Given the description of an element on the screen output the (x, y) to click on. 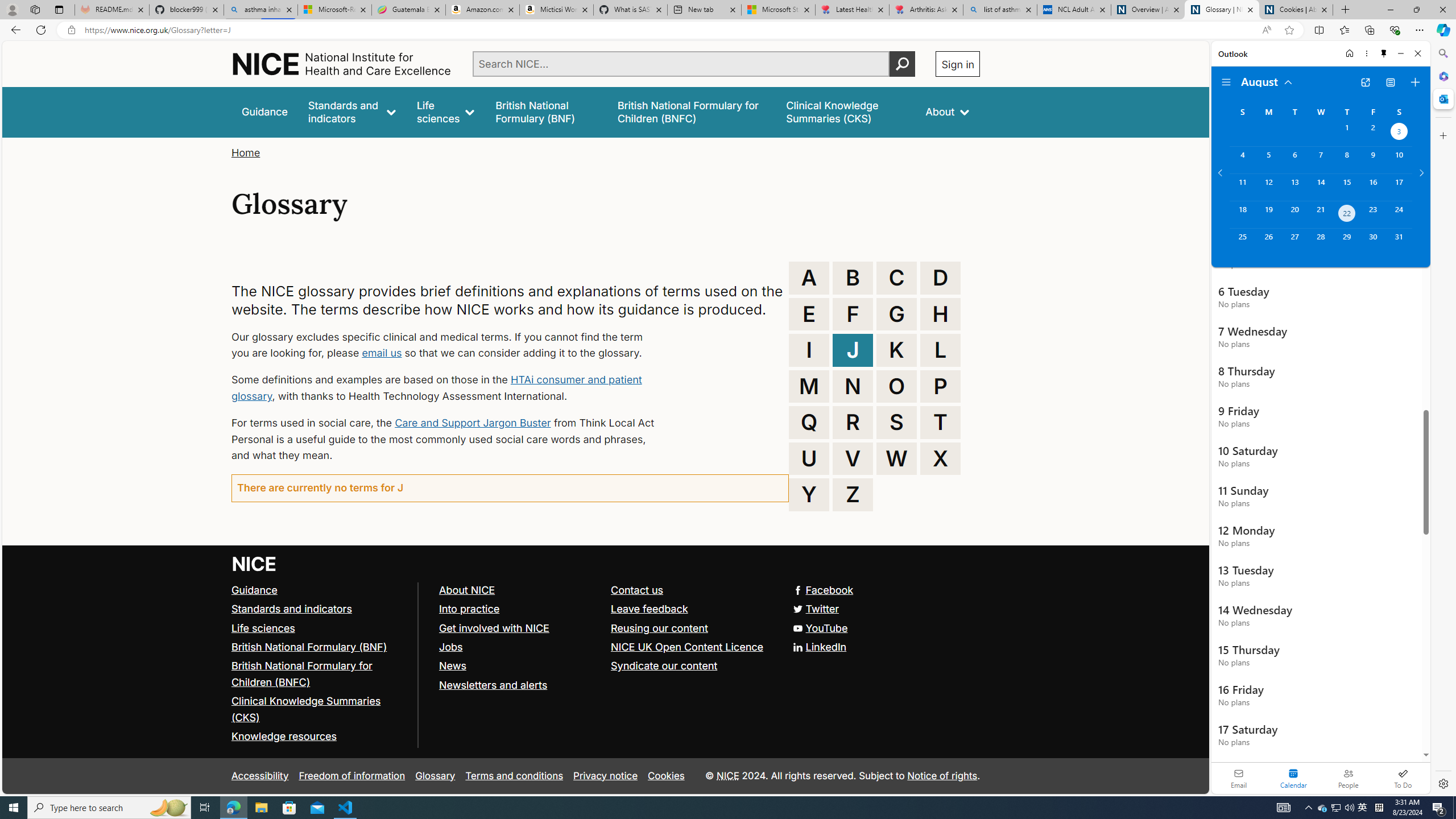
Guidance (319, 589)
Freedom of information (352, 775)
People (1347, 777)
W (896, 458)
Wednesday, August 21, 2024.  (1320, 214)
Monday, August 5, 2024.  (1268, 159)
G (896, 313)
T (940, 422)
Into practice (518, 609)
